Given the description of an element on the screen output the (x, y) to click on. 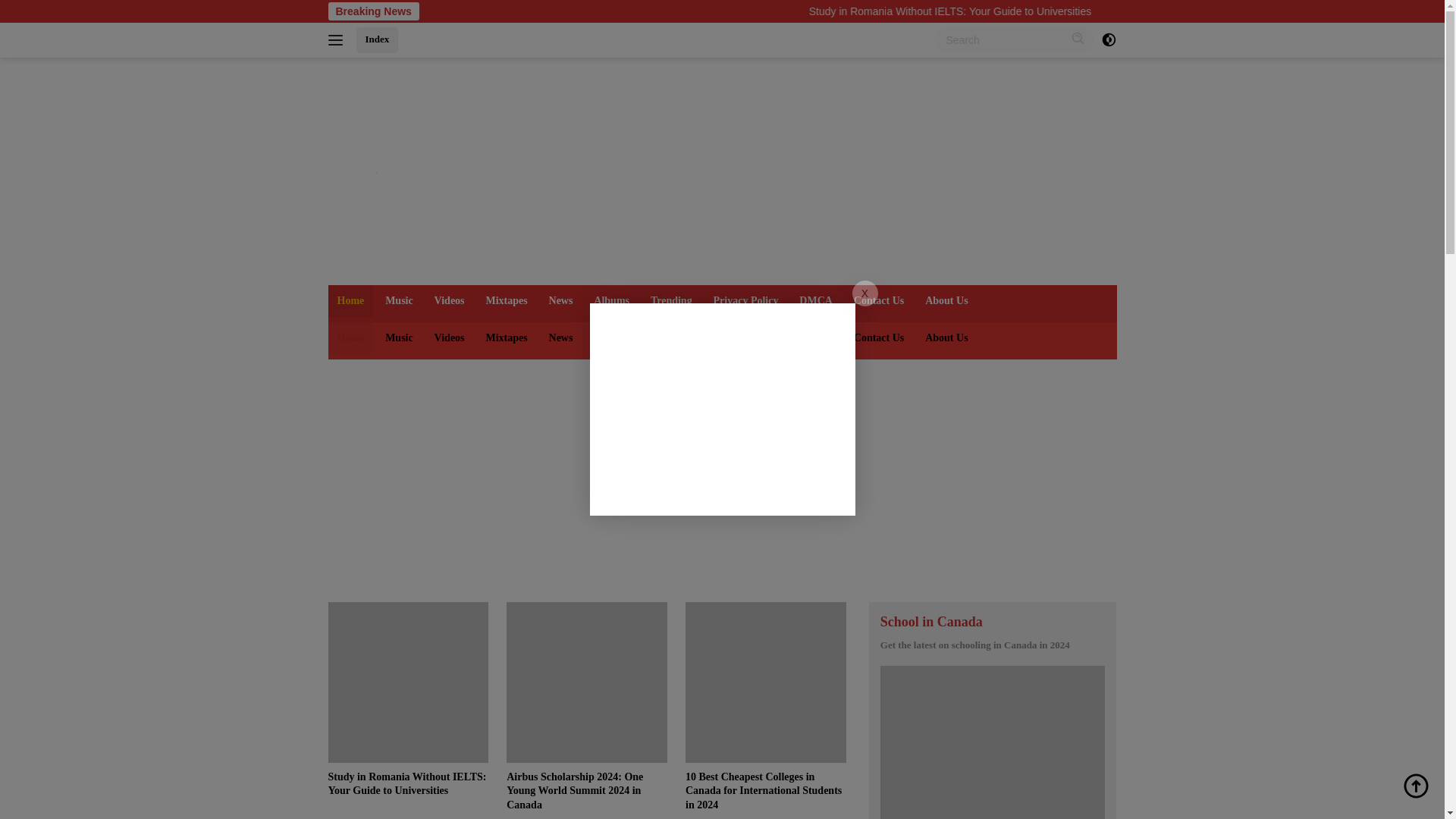
Albums (612, 300)
Index (377, 40)
DMCA (815, 300)
Videos (449, 337)
DMCA (815, 337)
Contact Us (879, 300)
Videos (449, 300)
Mixtapes (505, 337)
Trending (671, 337)
